Given the description of an element on the screen output the (x, y) to click on. 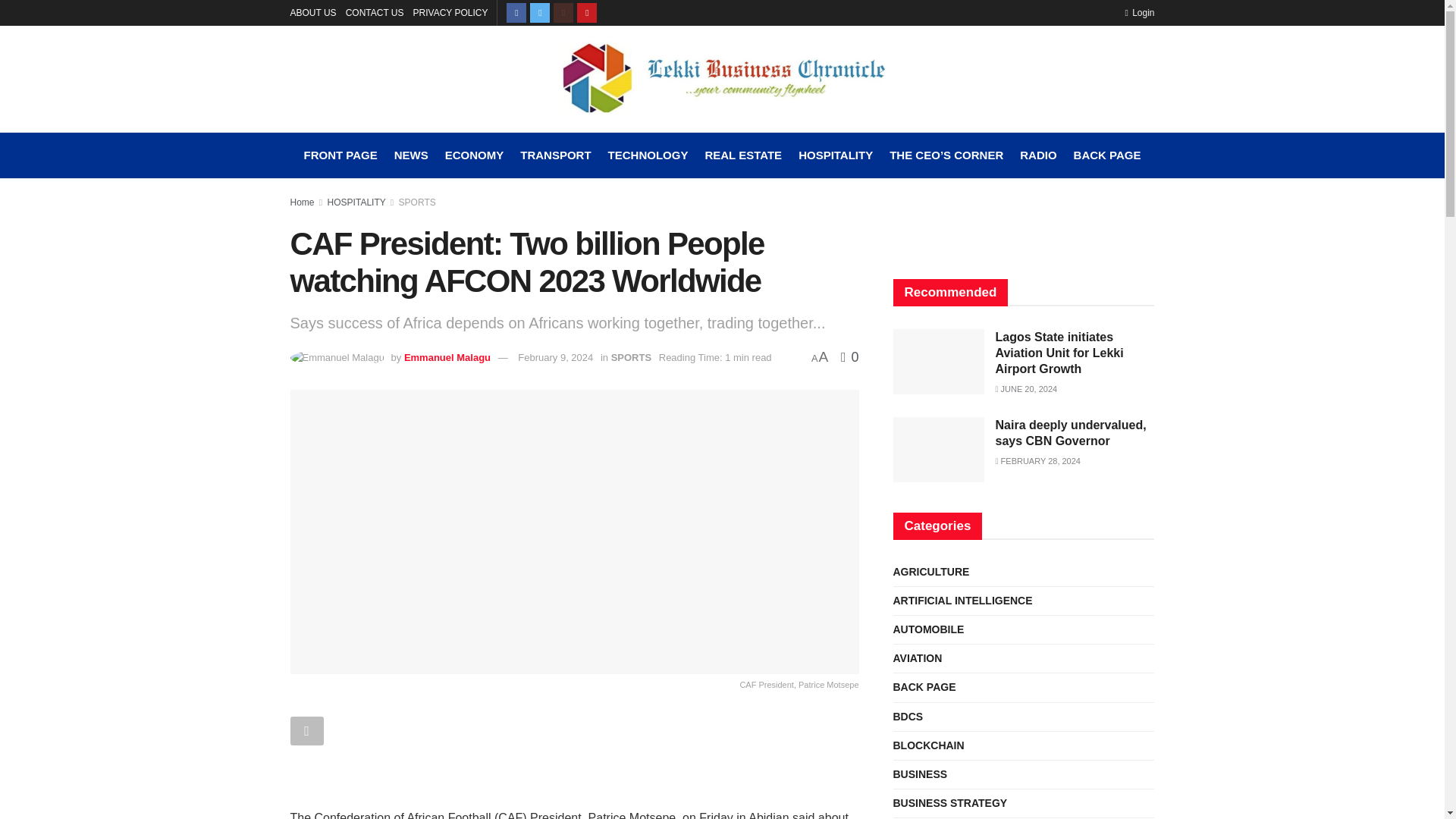
CONTACT US (375, 12)
ABOUT US (312, 12)
PRIVACY POLICY (450, 12)
Login (1139, 12)
FRONT PAGE (340, 155)
NEWS (411, 155)
ECONOMY (474, 155)
